Given the description of an element on the screen output the (x, y) to click on. 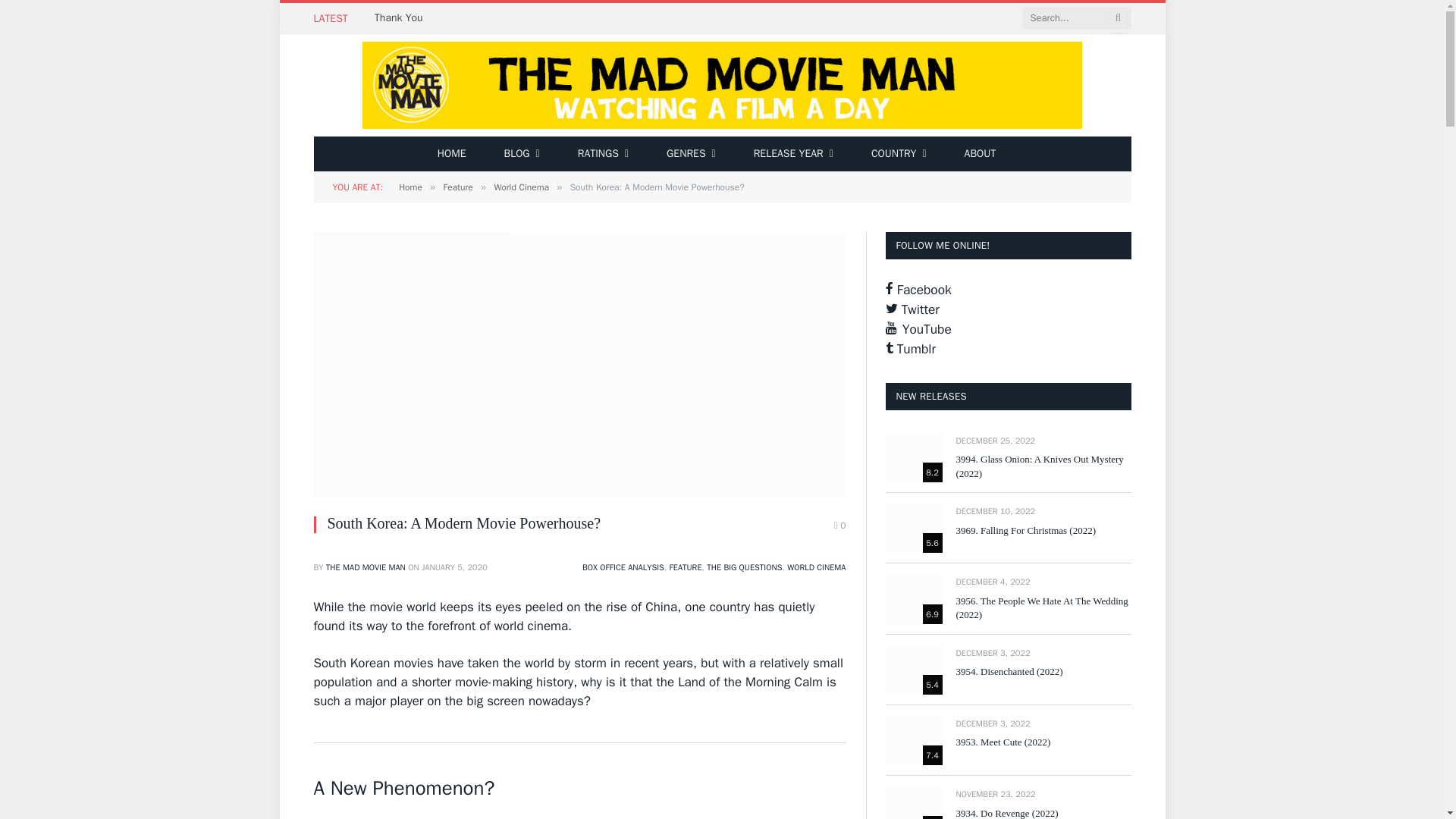
HOME (451, 153)
The Mad Movie Man (722, 85)
RATINGS (603, 153)
Thank You (402, 18)
2020-01-05 (454, 566)
BLOG (520, 153)
Posts by The Mad Movie Man (366, 566)
